Given the description of an element on the screen output the (x, y) to click on. 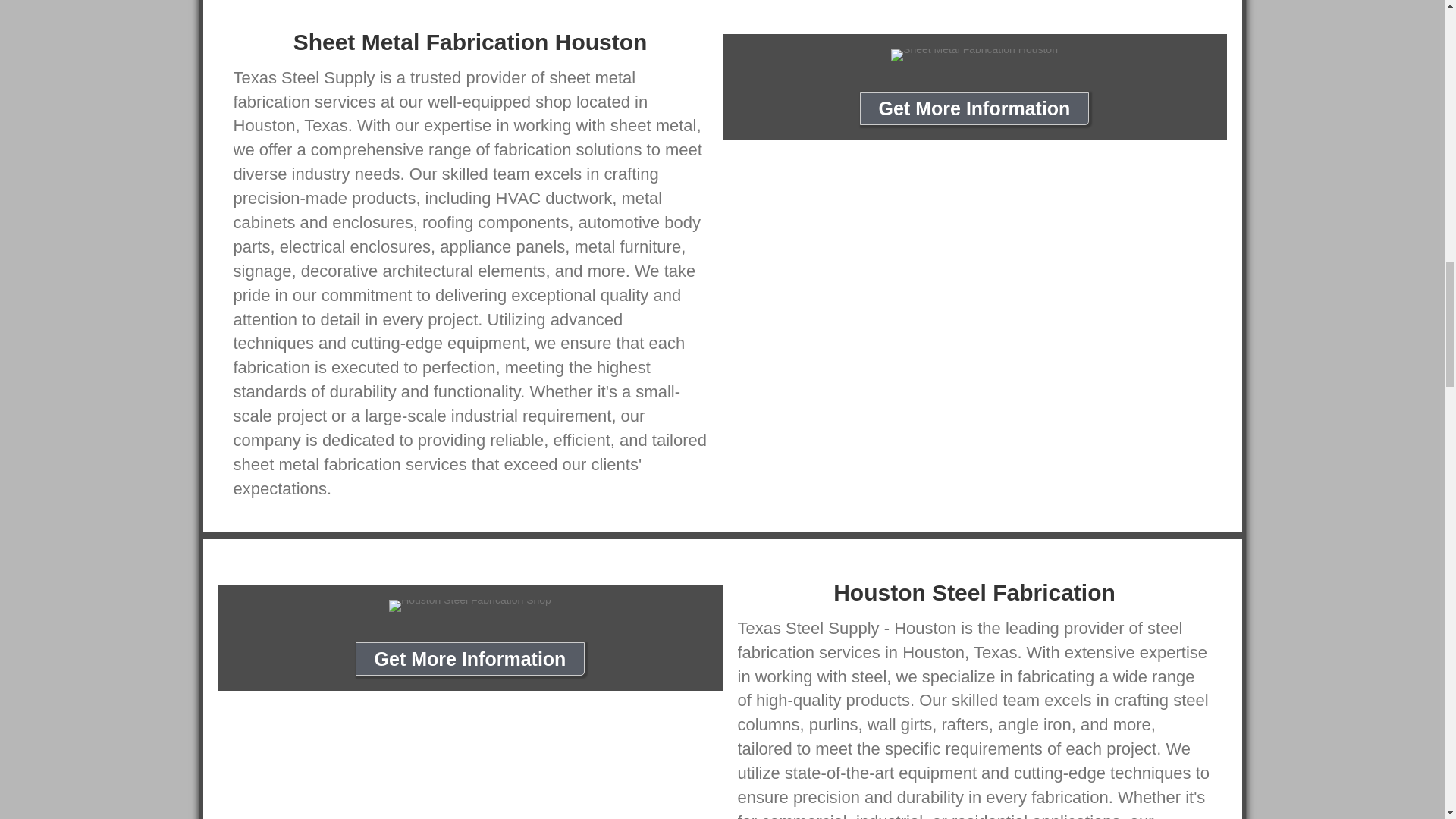
wpforms-submit (759, 396)
Get More Information (974, 108)
Click Here (974, 108)
Click Here (470, 658)
Get More Information (470, 658)
Sheet Metal Fabrication Houston (974, 55)
Houston Steel Fabrication Shop (469, 605)
